Given the description of an element on the screen output the (x, y) to click on. 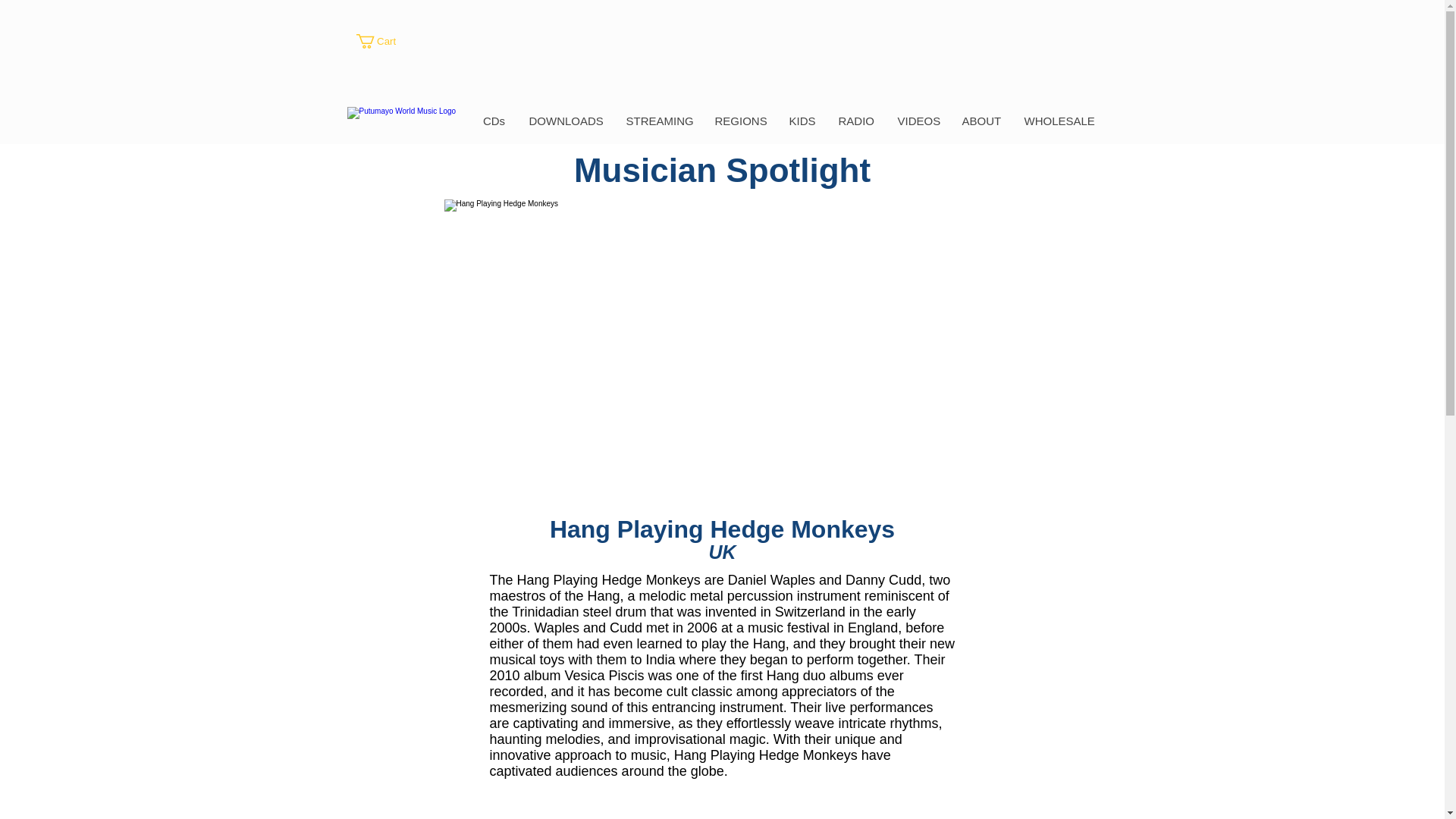
ABOUT (980, 121)
REGIONS (738, 121)
RADIO (856, 121)
CDs (493, 121)
WHOLESALE (1056, 121)
STREAMING (658, 121)
VIDEOS (917, 121)
Cart (384, 41)
KIDS (800, 121)
